Given the description of an element on the screen output the (x, y) to click on. 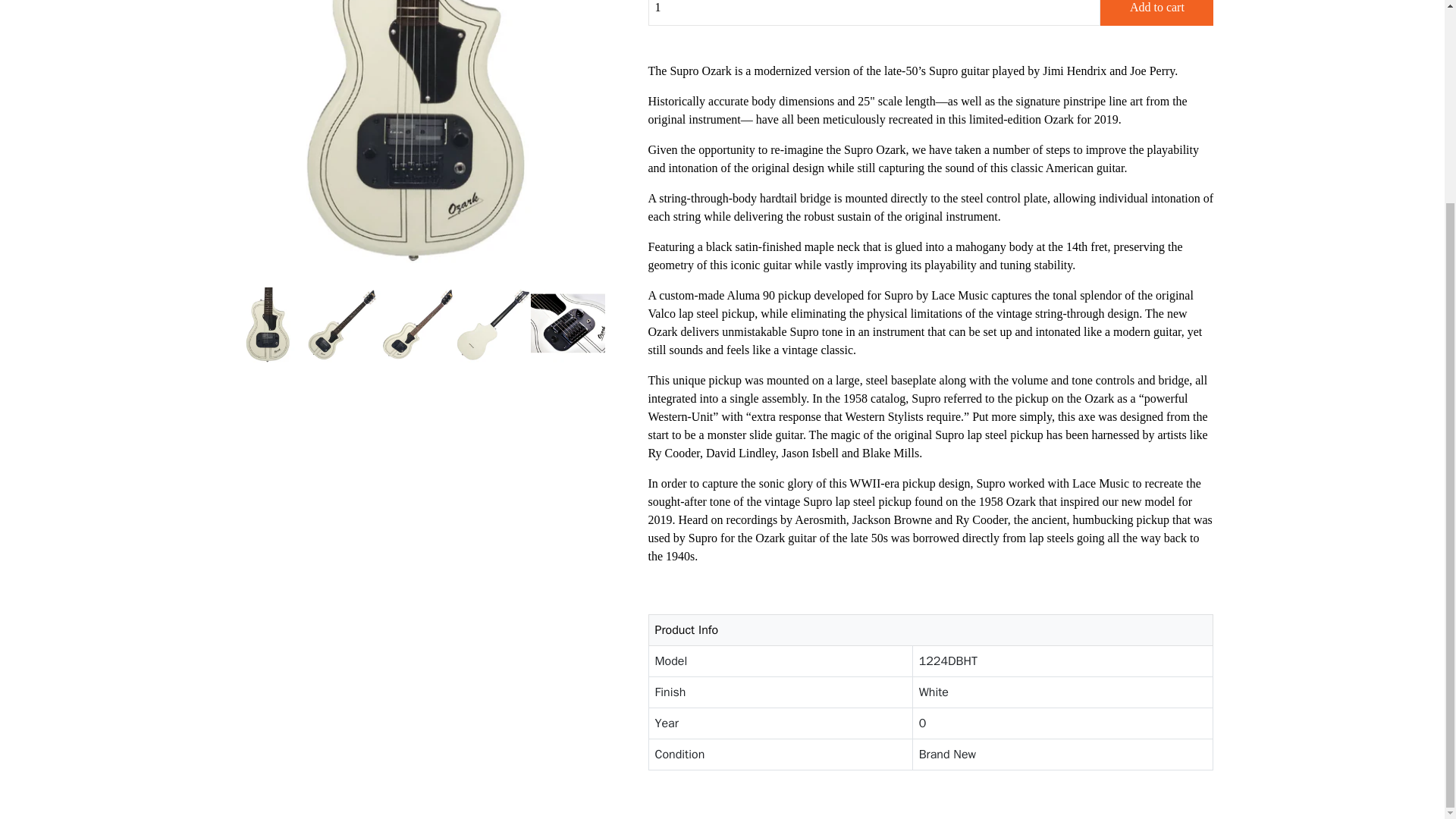
1 (873, 12)
Add to cart (1156, 12)
